Given the description of an element on the screen output the (x, y) to click on. 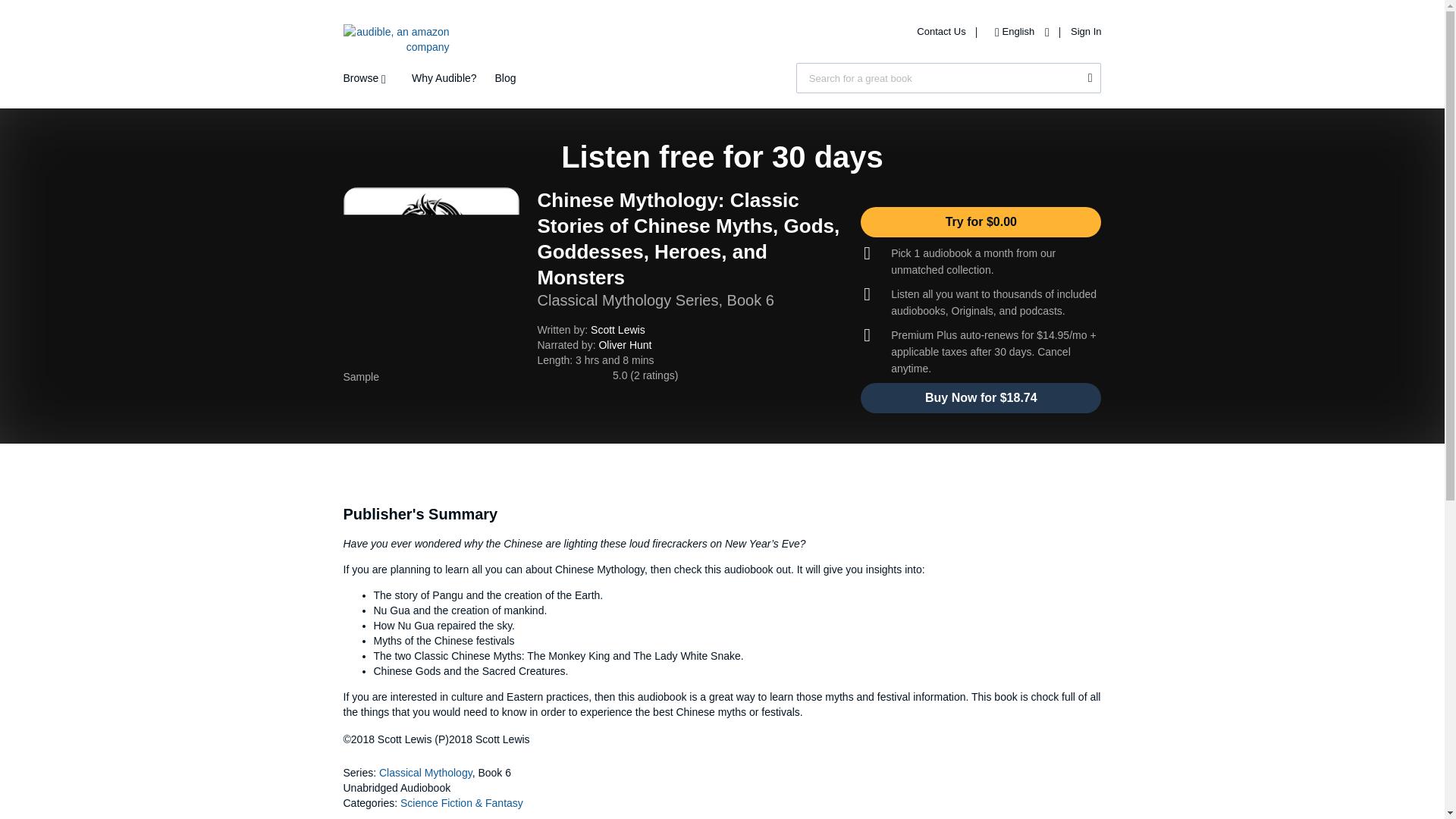
Browse (367, 78)
Oliver Hunt (624, 345)
Sign In (1085, 30)
Why Audible? (444, 78)
Blog (505, 78)
Contact Us (942, 30)
English (1018, 30)
Scott Lewis (618, 329)
